Given the description of an element on the screen output the (x, y) to click on. 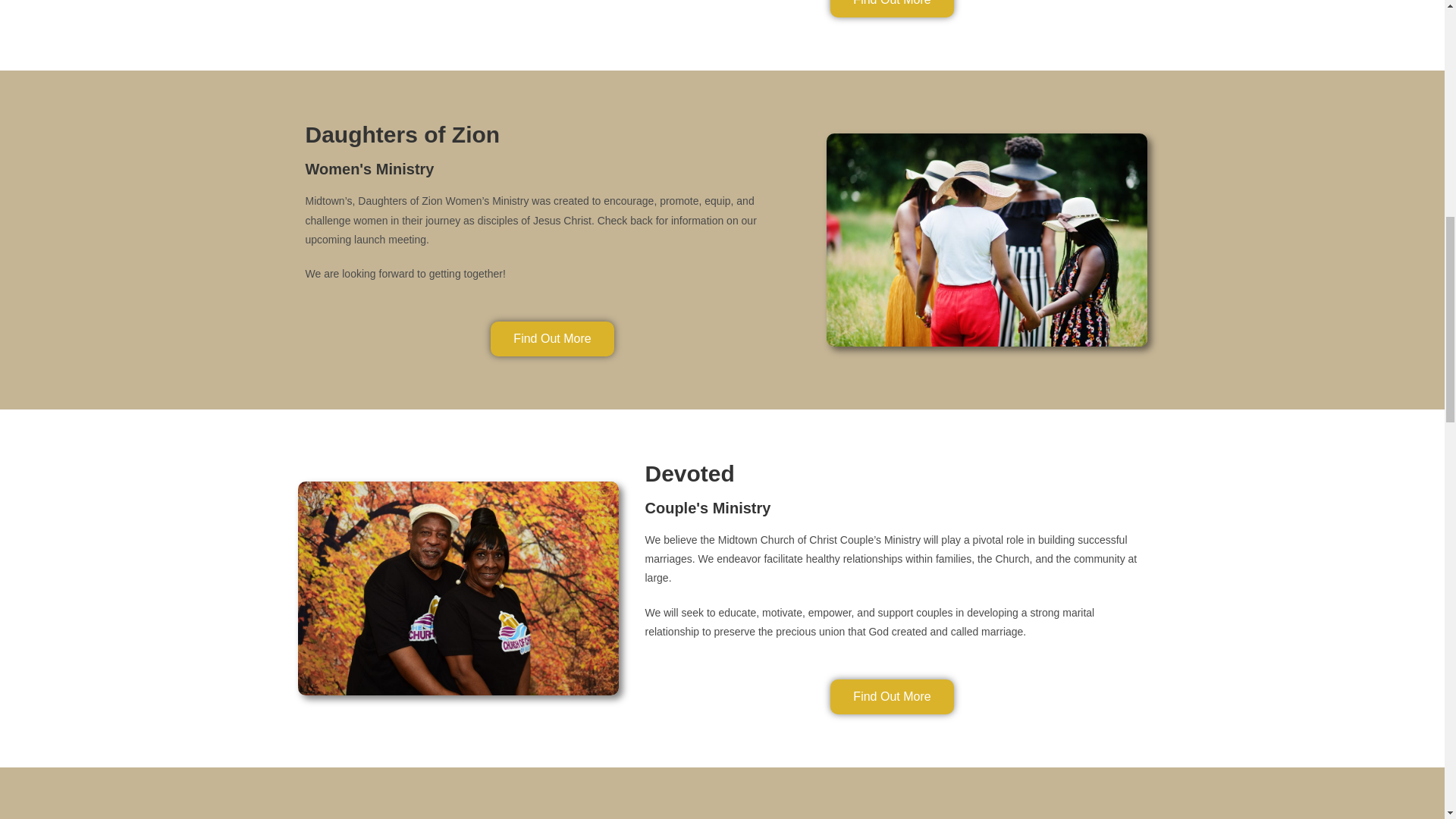
Find Out More (551, 338)
Find Out More (891, 696)
Find Out More (891, 8)
